Given the description of an element on the screen output the (x, y) to click on. 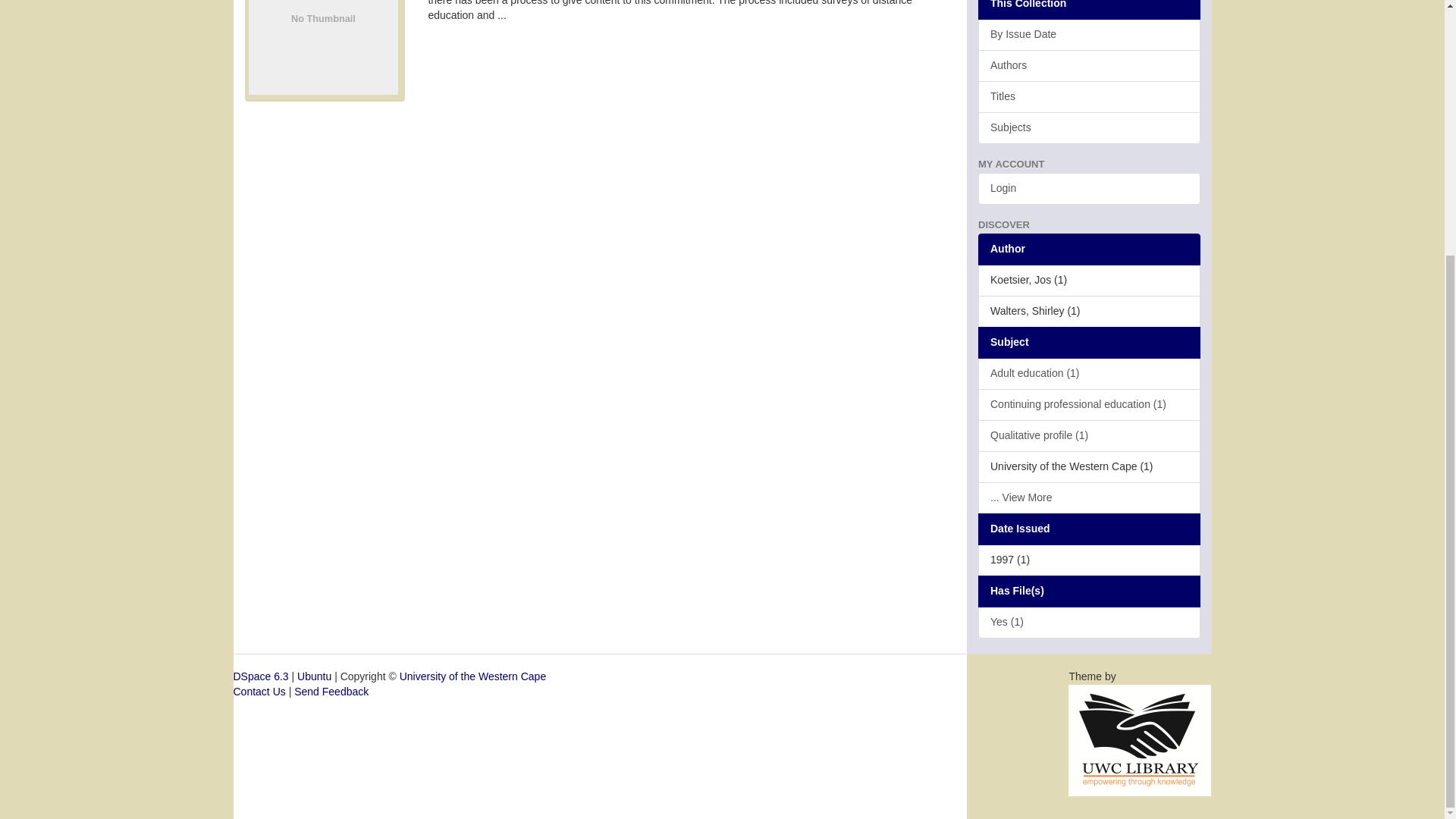
Atmire NV (1139, 739)
